Given the description of an element on the screen output the (x, y) to click on. 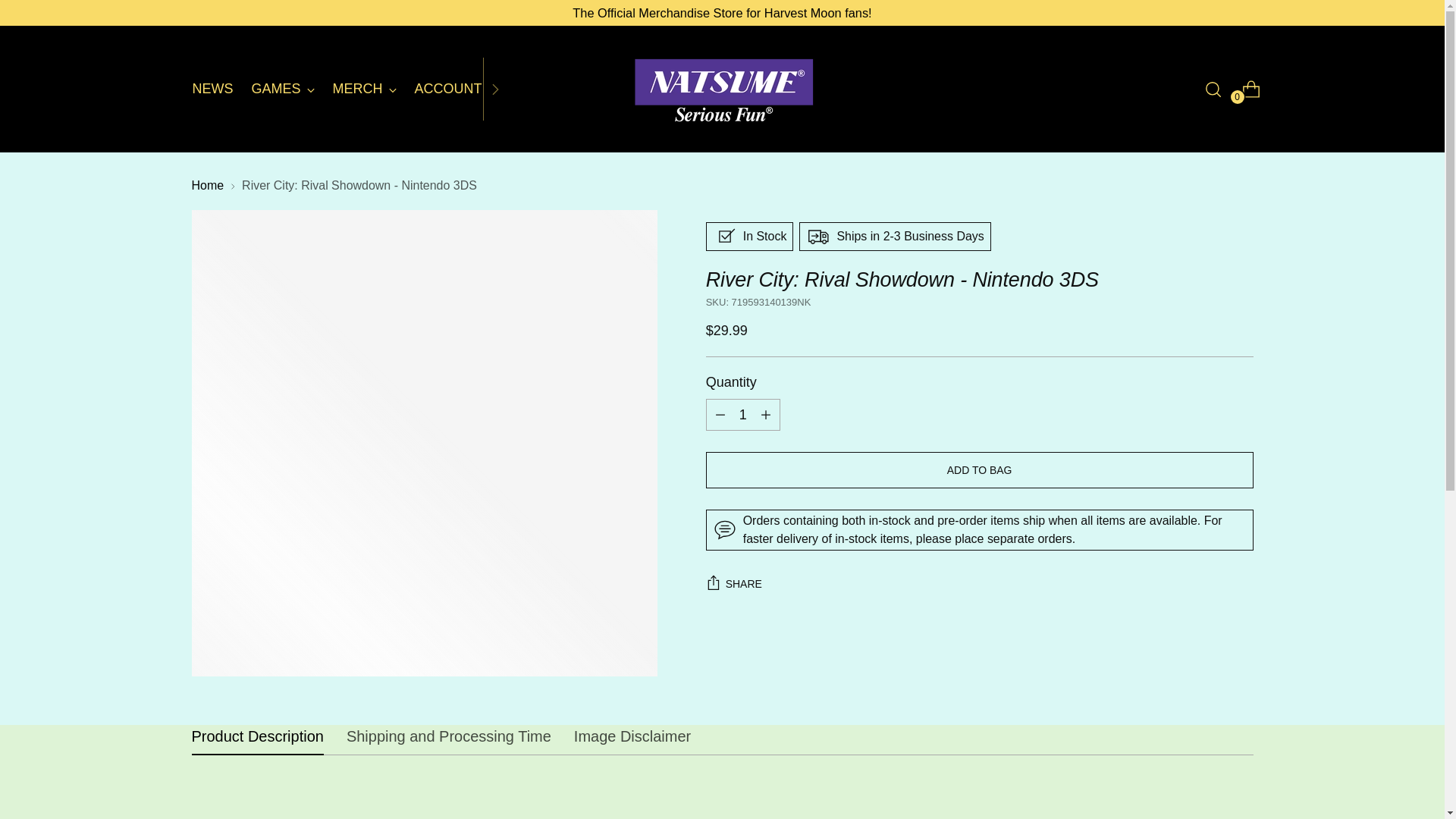
MERCH (364, 89)
GAMES (282, 89)
NEWS (212, 89)
ACCOUNT (447, 89)
0 (347, 88)
The Official Merchandise Store for Harvest Moon fans! (1245, 89)
1 (721, 13)
